Given the description of an element on the screen output the (x, y) to click on. 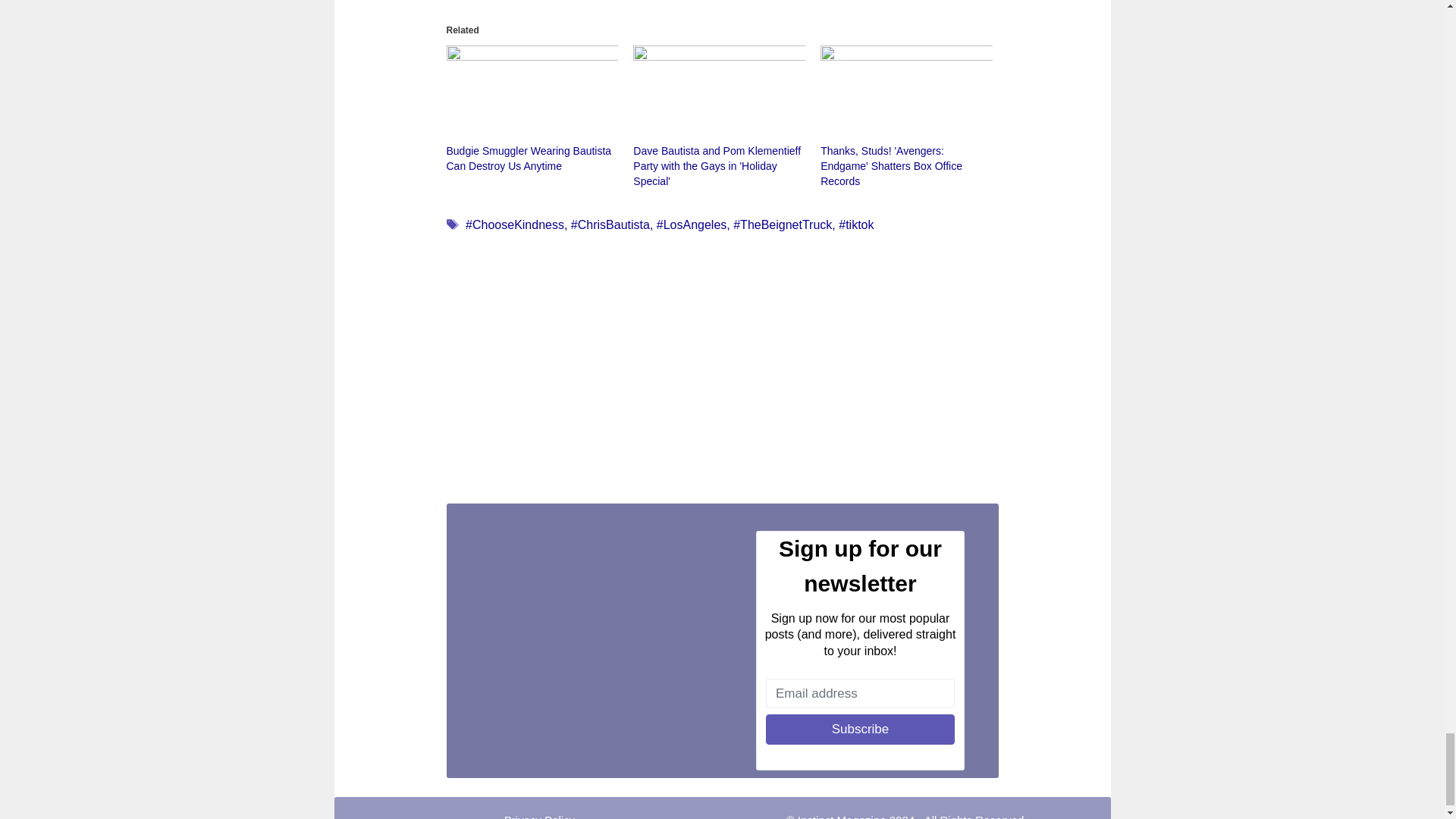
Subscribe (860, 729)
